Given the description of an element on the screen output the (x, y) to click on. 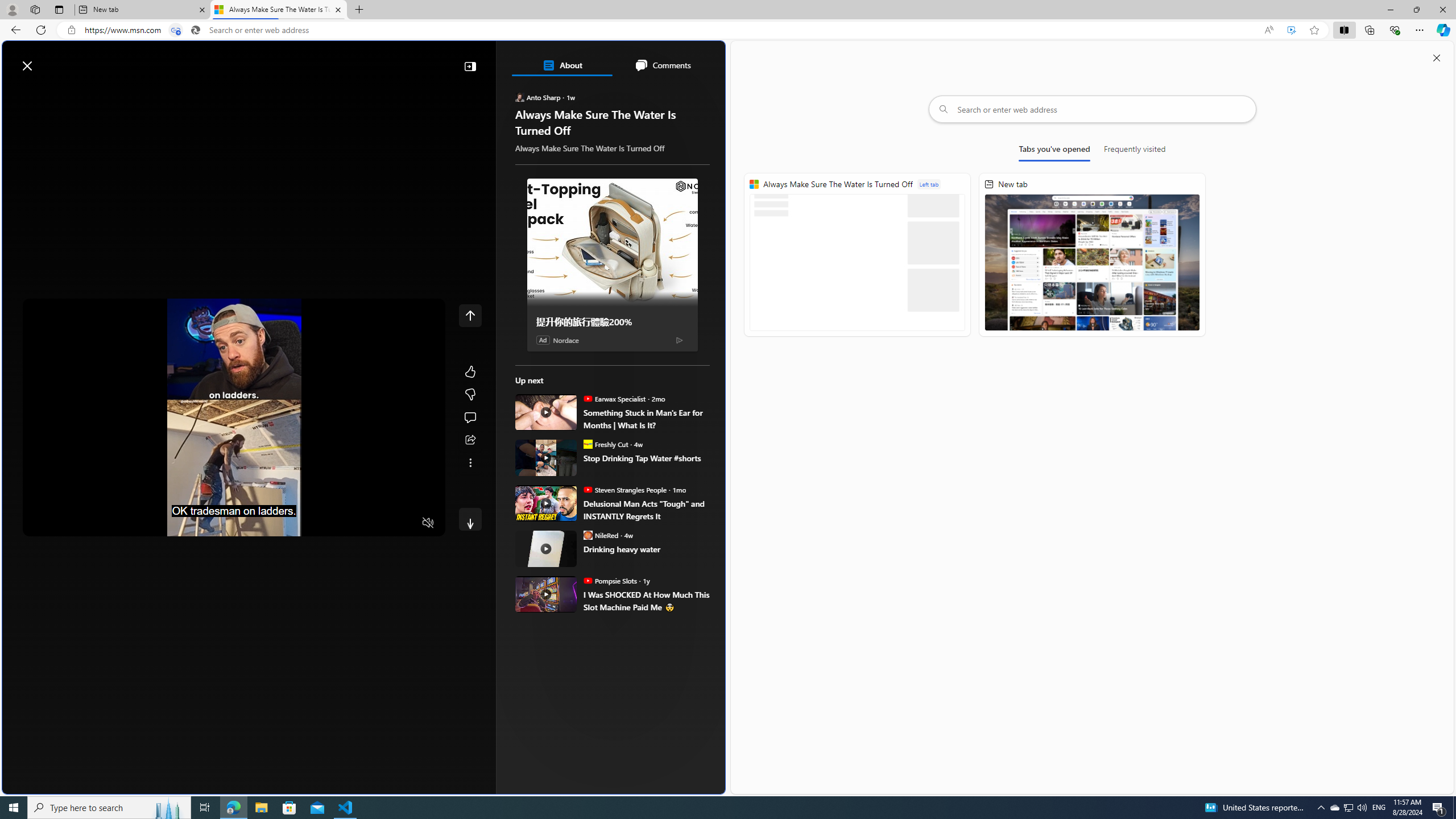
Anto Sharp (519, 96)
Always Make Sure The Water Is Turned Off (856, 254)
Seek Back (62, 523)
Add this page to favorites (Ctrl+D) (1314, 29)
Microsoft Start (53, 60)
Close split screen (1436, 57)
Class: control icon-only (469, 315)
Freshly Cut Freshly Cut (605, 443)
Skip to footer (46, 59)
Microsoft rewards (654, 60)
